Given the description of an element on the screen output the (x, y) to click on. 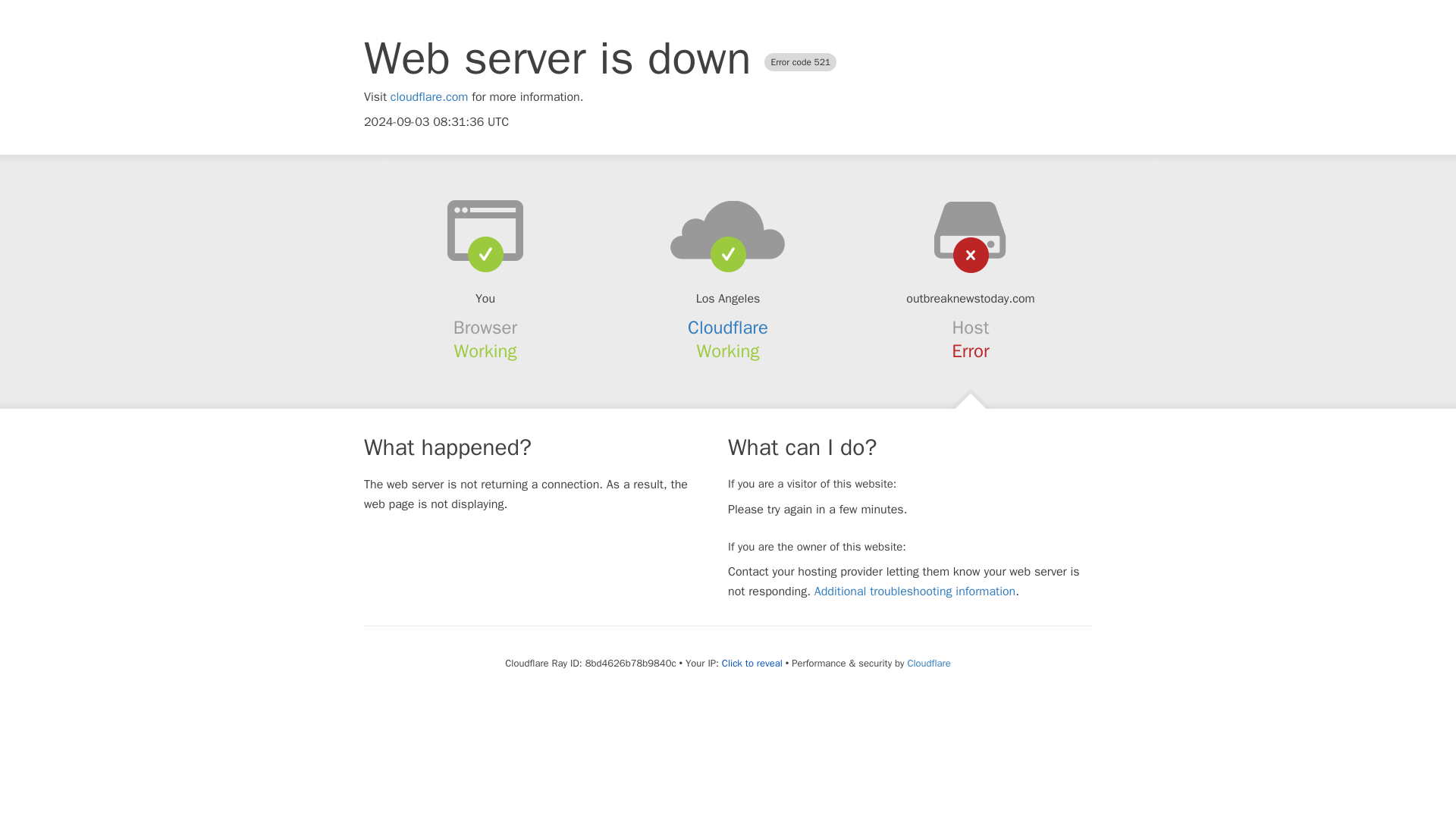
cloudflare.com (429, 96)
Cloudflare (928, 662)
Cloudflare (727, 327)
Additional troubleshooting information (913, 590)
Click to reveal (752, 663)
